Given the description of an element on the screen output the (x, y) to click on. 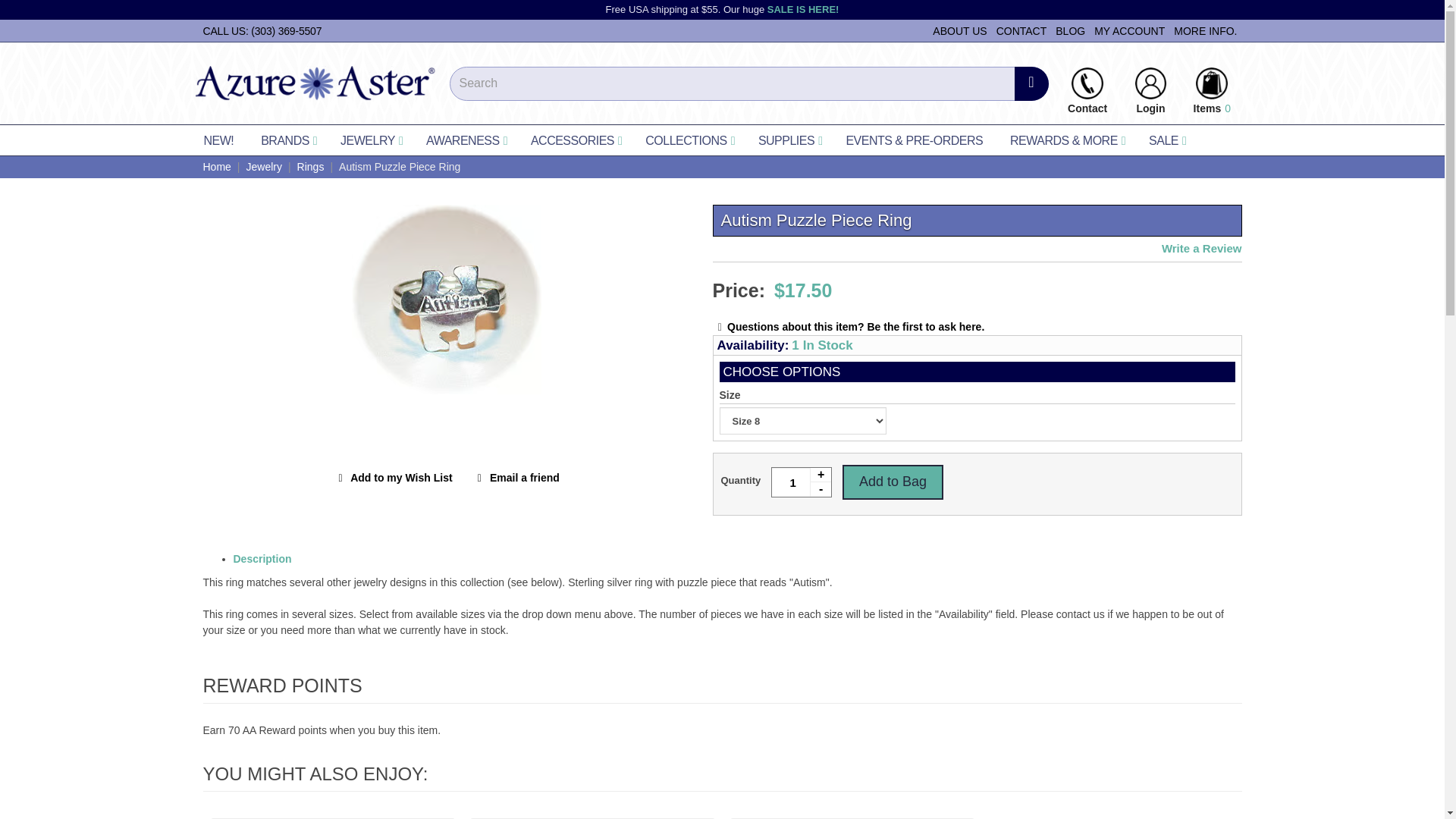
CONTACT (1021, 30)
Login (1151, 82)
call us (263, 30)
Login to Account (1151, 82)
BLOG (1070, 30)
MY ACCOUNT (1129, 30)
ABOUT US (959, 30)
MORE INFO. (1205, 30)
BRANDS (286, 140)
1 (801, 481)
SALE IS HERE! (803, 9)
NEW! (218, 140)
Search Button (1031, 83)
